Given the description of an element on the screen output the (x, y) to click on. 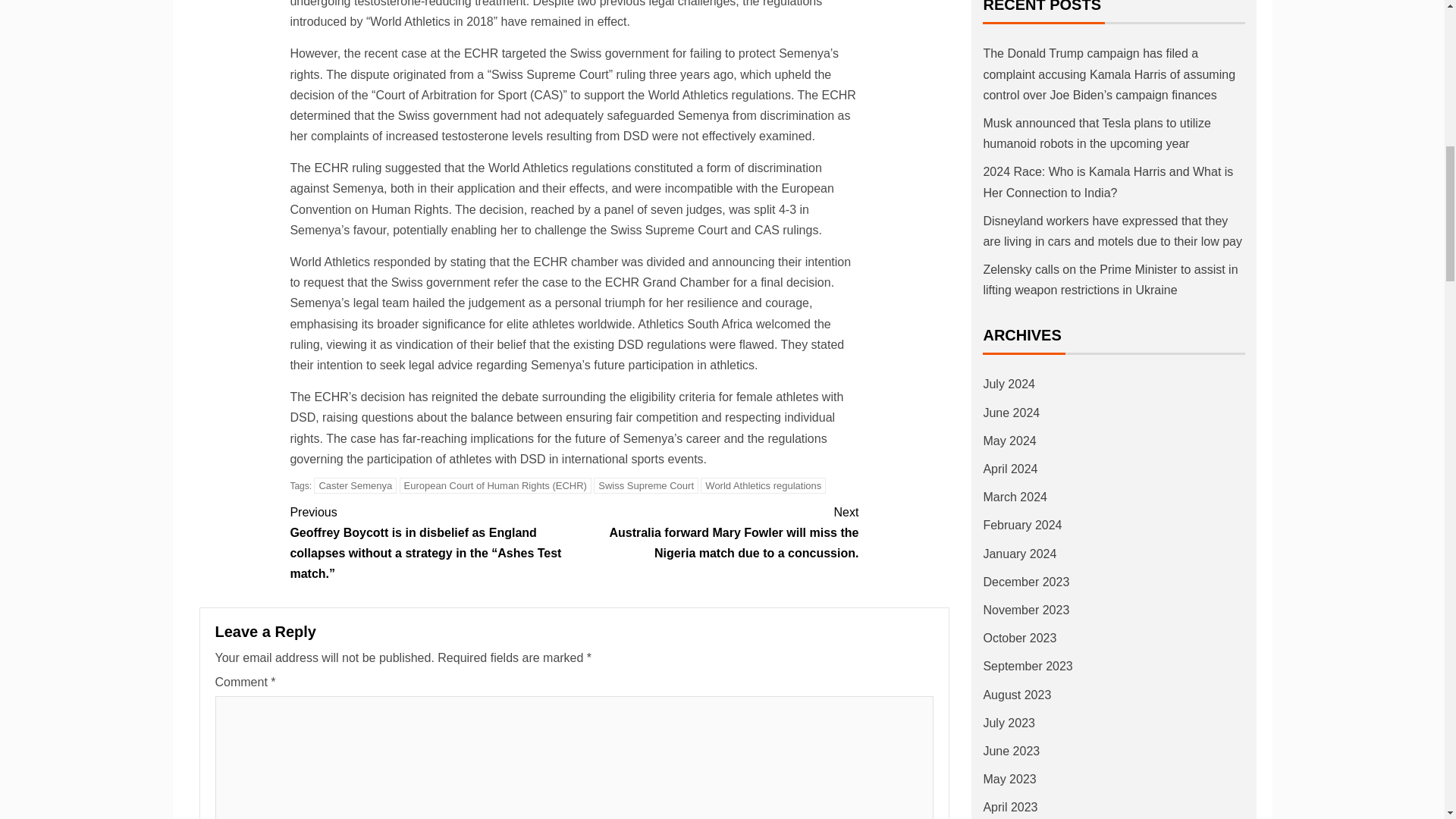
Caster Semenya (355, 485)
Swiss Supreme Court (646, 485)
World Athletics regulations (762, 485)
